Given the description of an element on the screen output the (x, y) to click on. 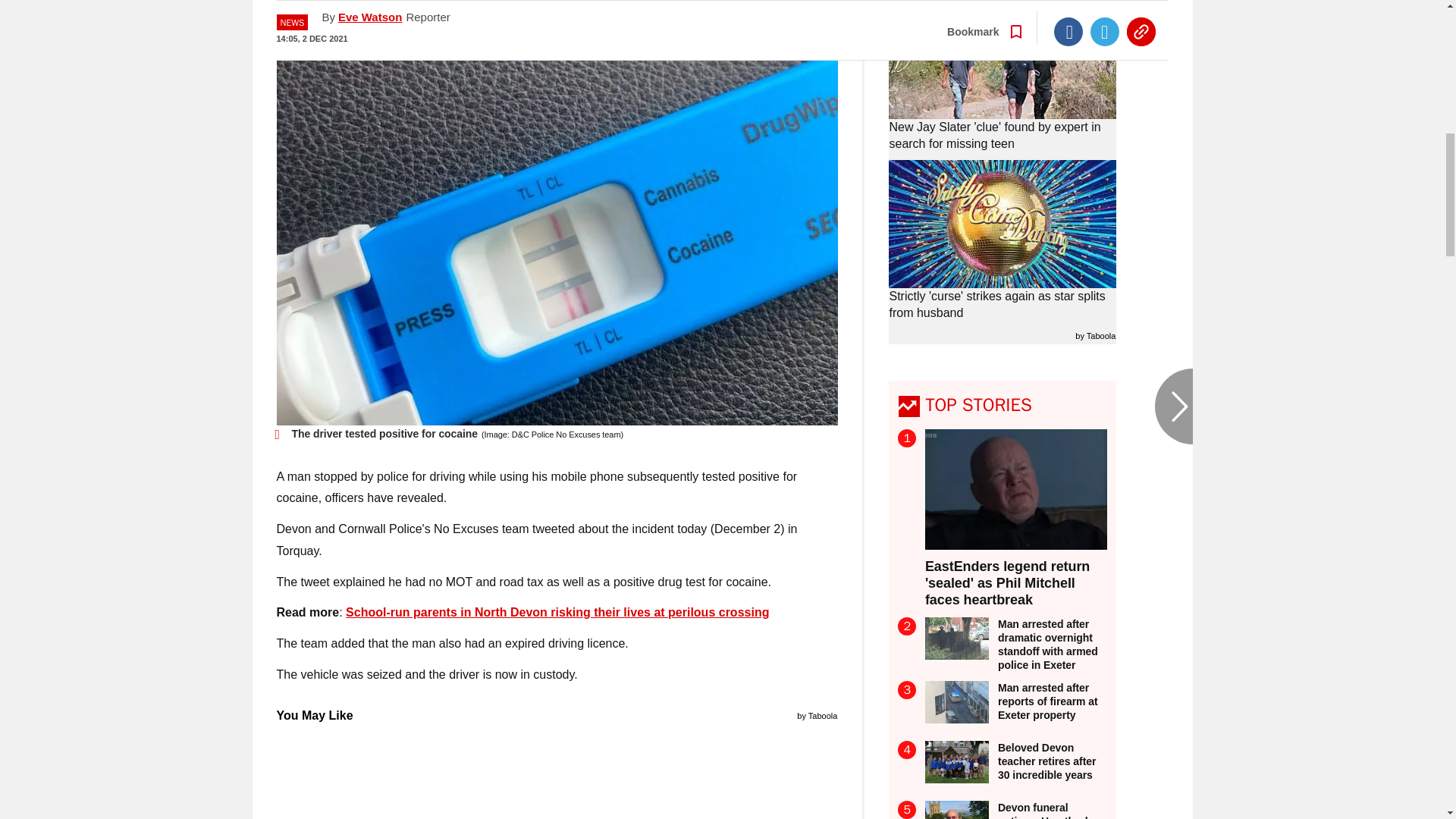
Go (730, 17)
